Given the description of an element on the screen output the (x, y) to click on. 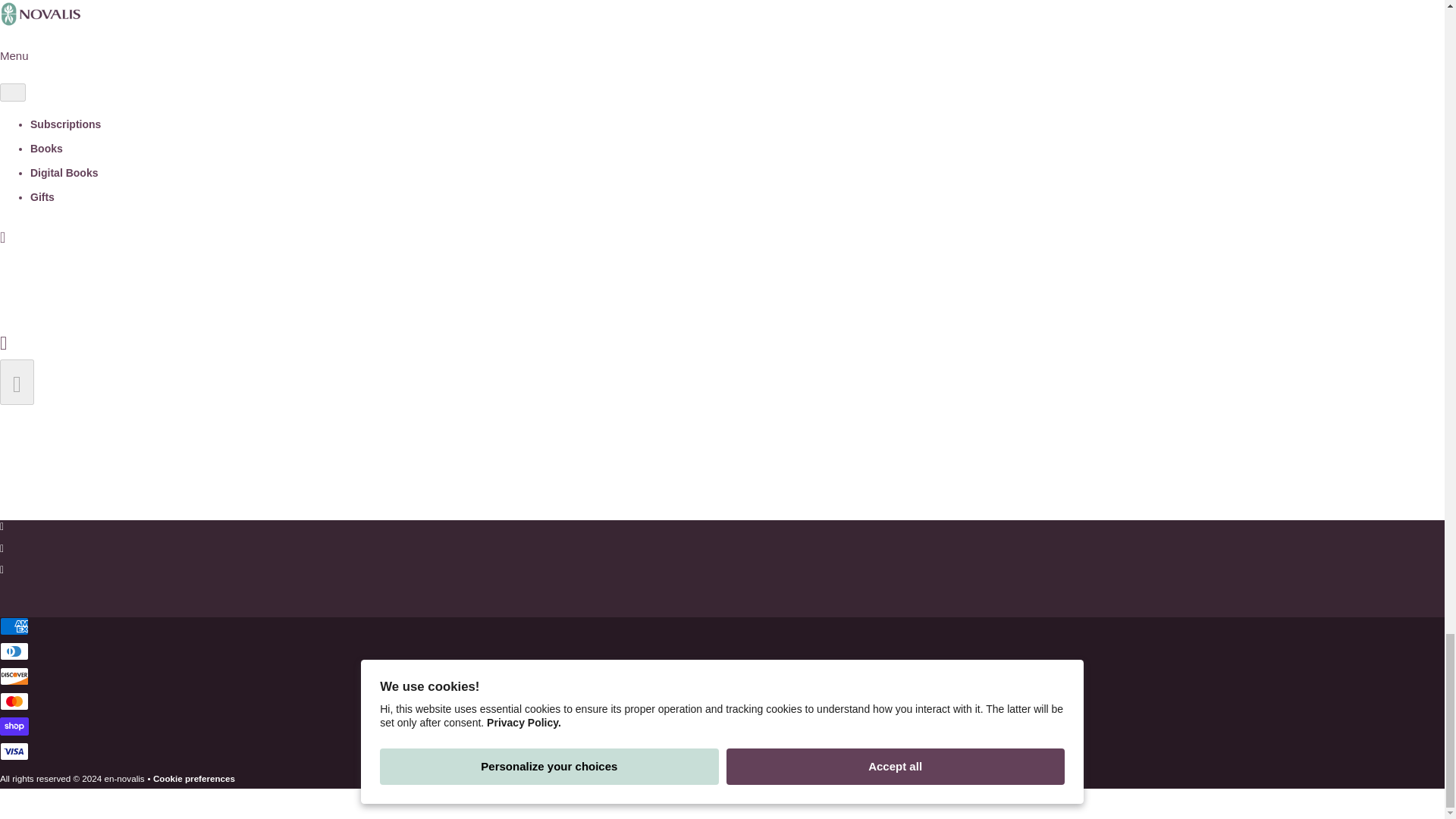
Mastercard (14, 701)
Diners Club (14, 651)
American Express (14, 626)
Featured Publishers (47, 138)
Shop Pay (14, 726)
 logo Patrimoine canadien (94, 492)
About Us (21, 159)
Visa (14, 751)
 sodec (286, 497)
Discover (14, 676)
